Given the description of an element on the screen output the (x, y) to click on. 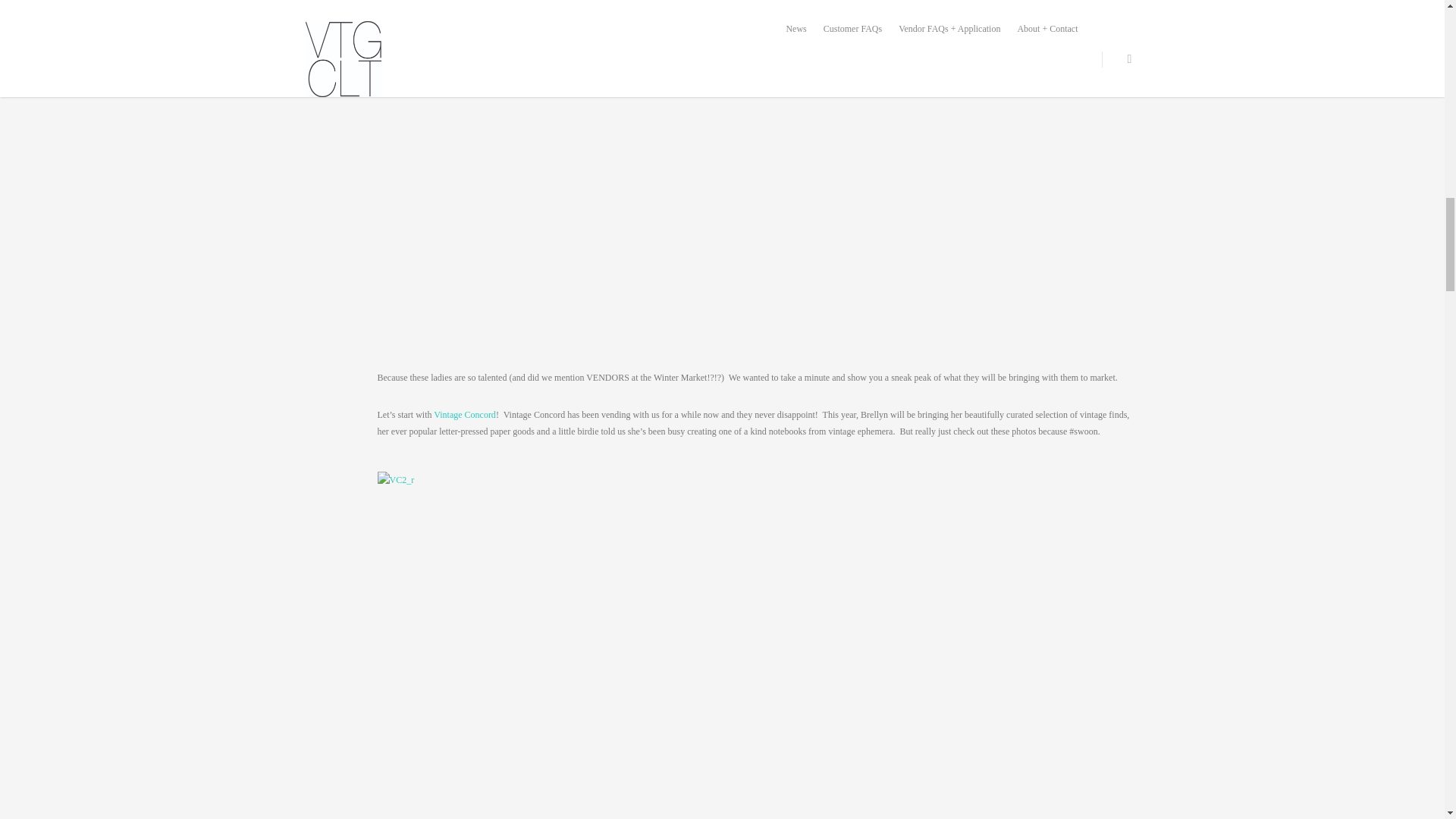
Vintage Concord (464, 414)
